Given the description of an element on the screen output the (x, y) to click on. 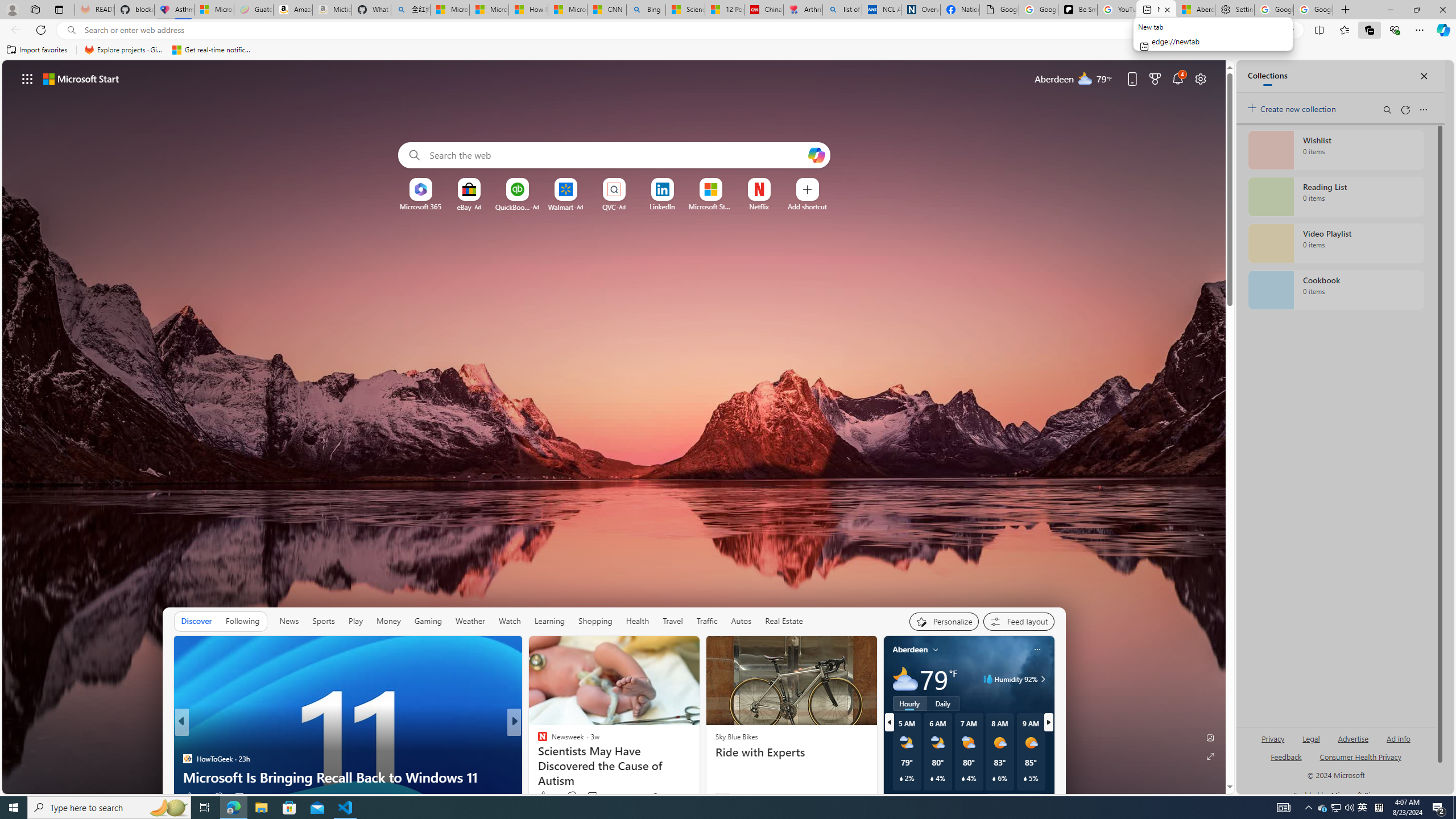
View comments 11 Comment (594, 796)
Aberdeen (910, 649)
View comments 3 Comment (592, 796)
View comments 1k Comment (597, 796)
Aberdeen, Hong Kong SAR hourly forecast | Microsoft Weather (1195, 9)
View comments 23 Comment (592, 797)
